Given the description of an element on the screen output the (x, y) to click on. 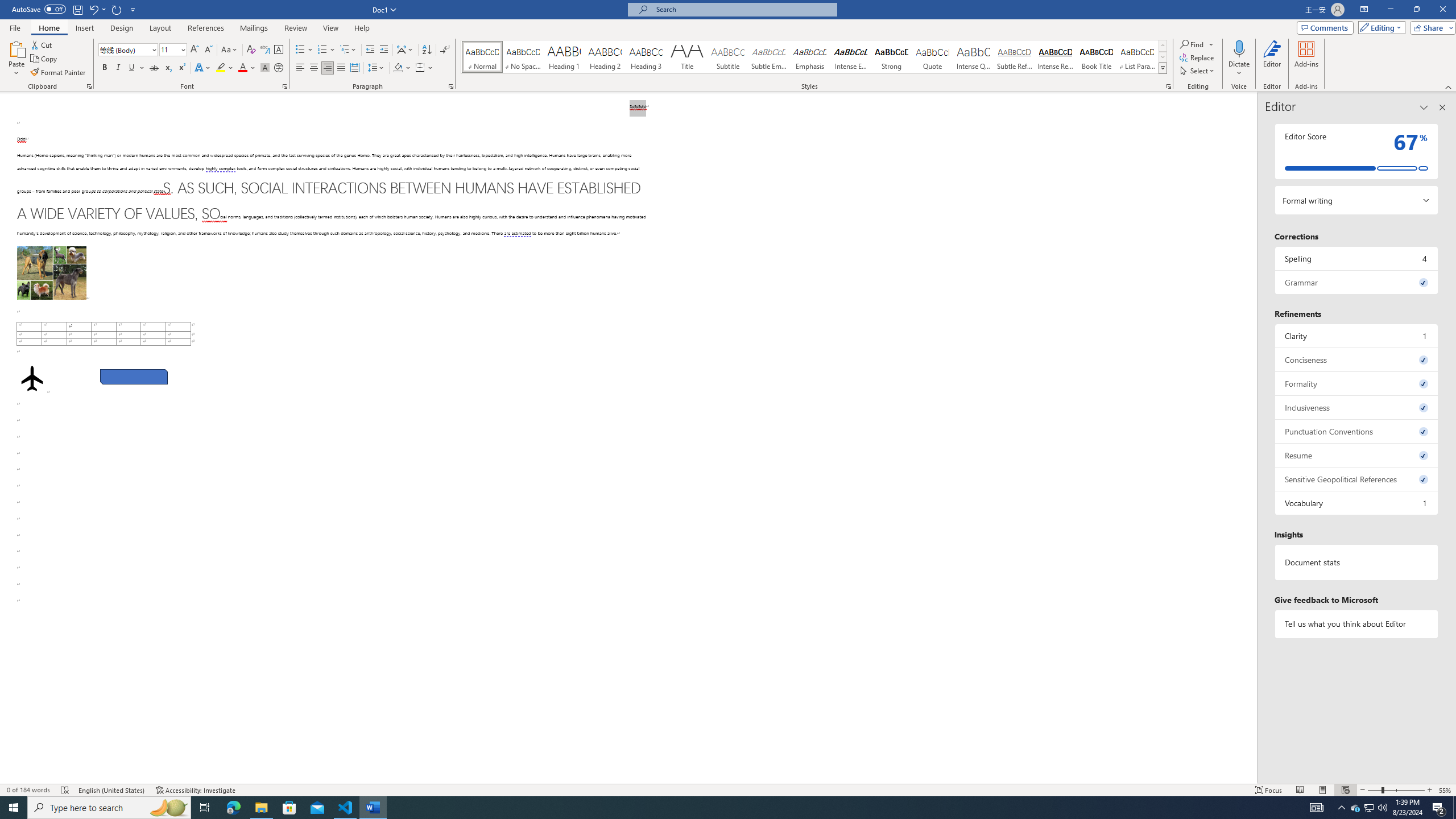
Enclose Characters... (278, 67)
Conciseness, 0 issues. Press space or enter to review items. (1356, 359)
Accessibility Checker Accessibility: Investigate (195, 790)
Subscript (167, 67)
Styles (1162, 67)
Shading (402, 67)
Microsoft search (742, 9)
